Given the description of an element on the screen output the (x, y) to click on. 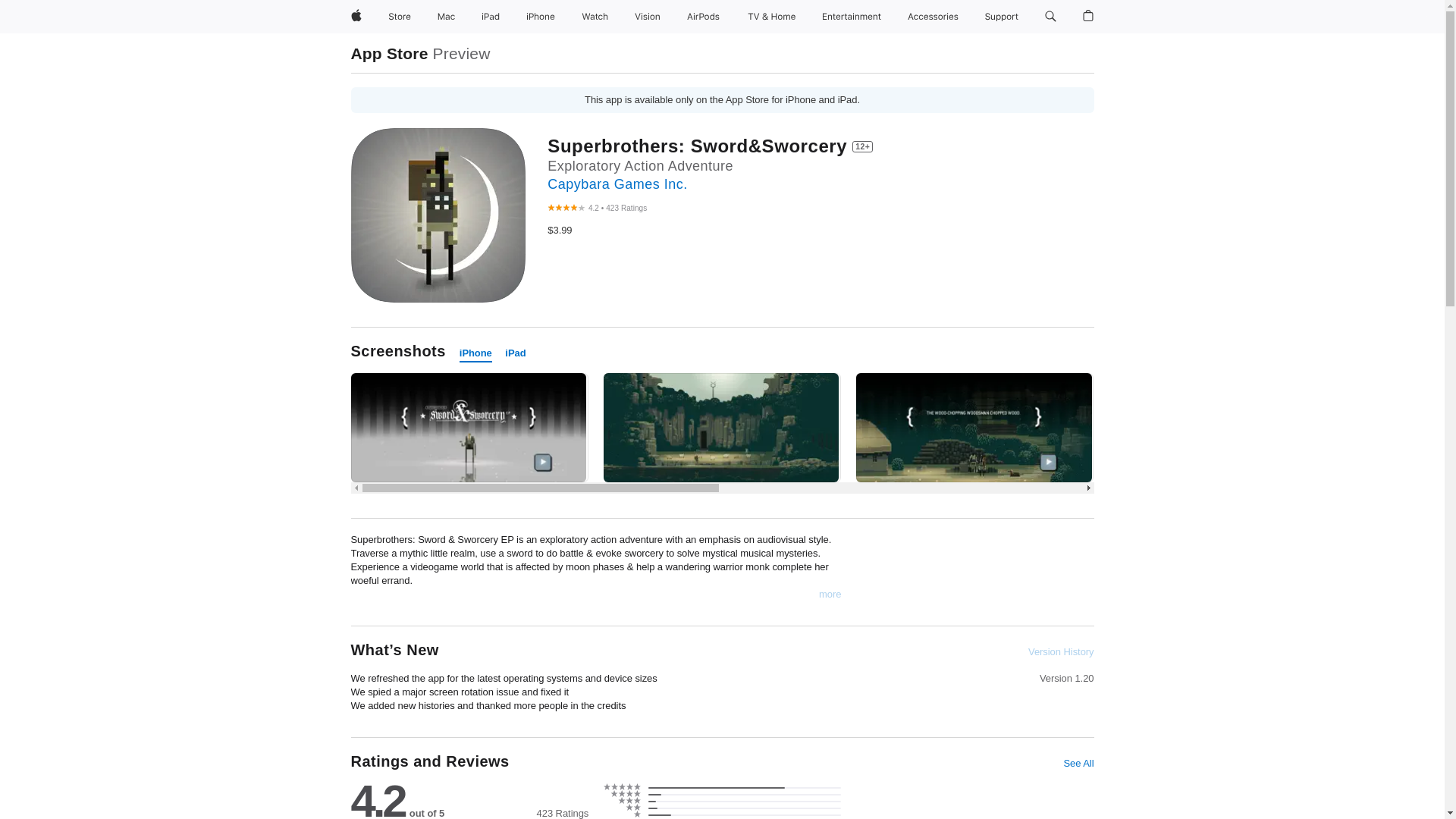
Store (398, 16)
